Given the description of an element on the screen output the (x, y) to click on. 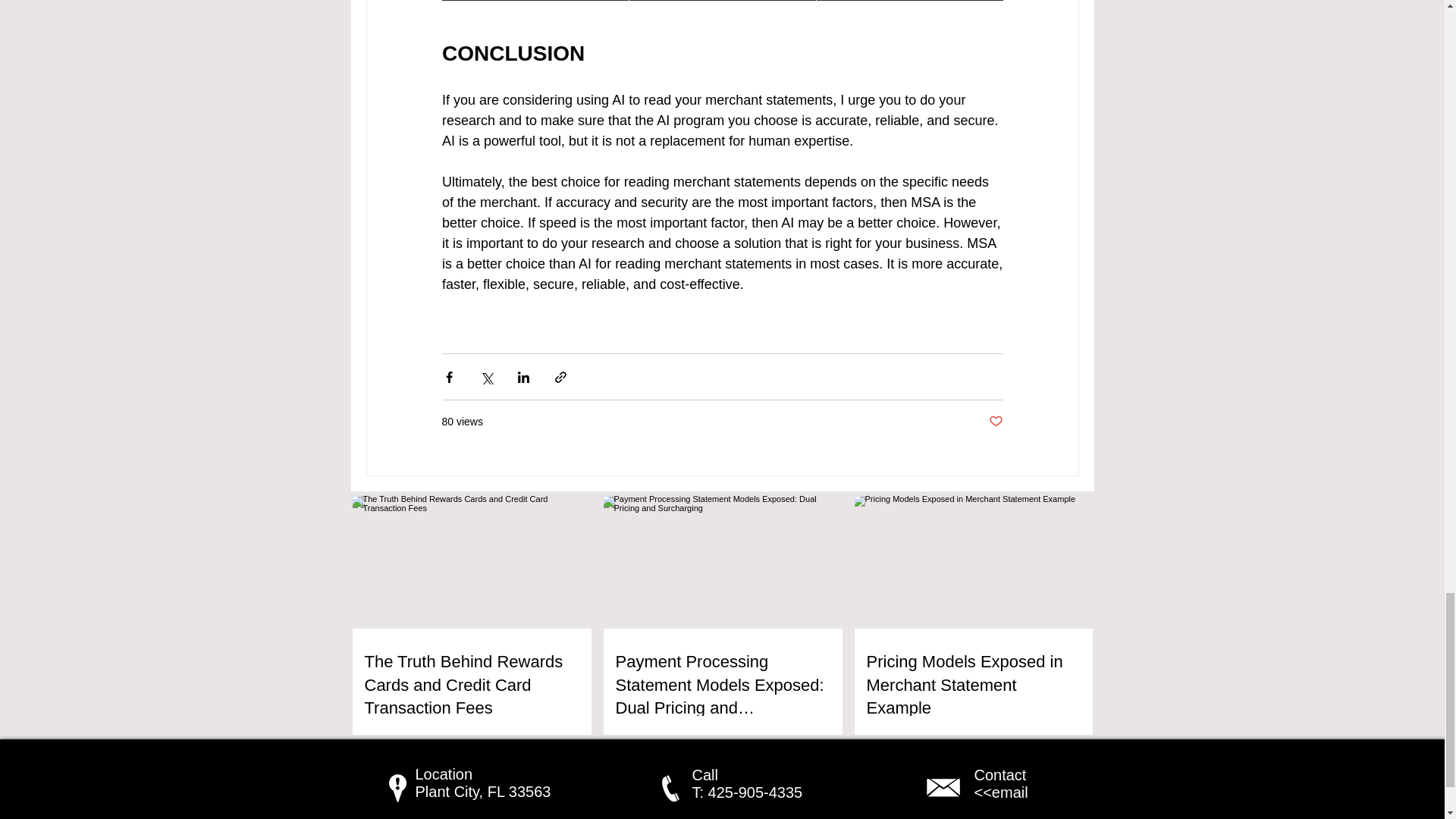
Pricing Models Exposed in Merchant Statement Example (973, 685)
Post not marked as liked (995, 421)
MSA email (942, 787)
